Given the description of an element on the screen output the (x, y) to click on. 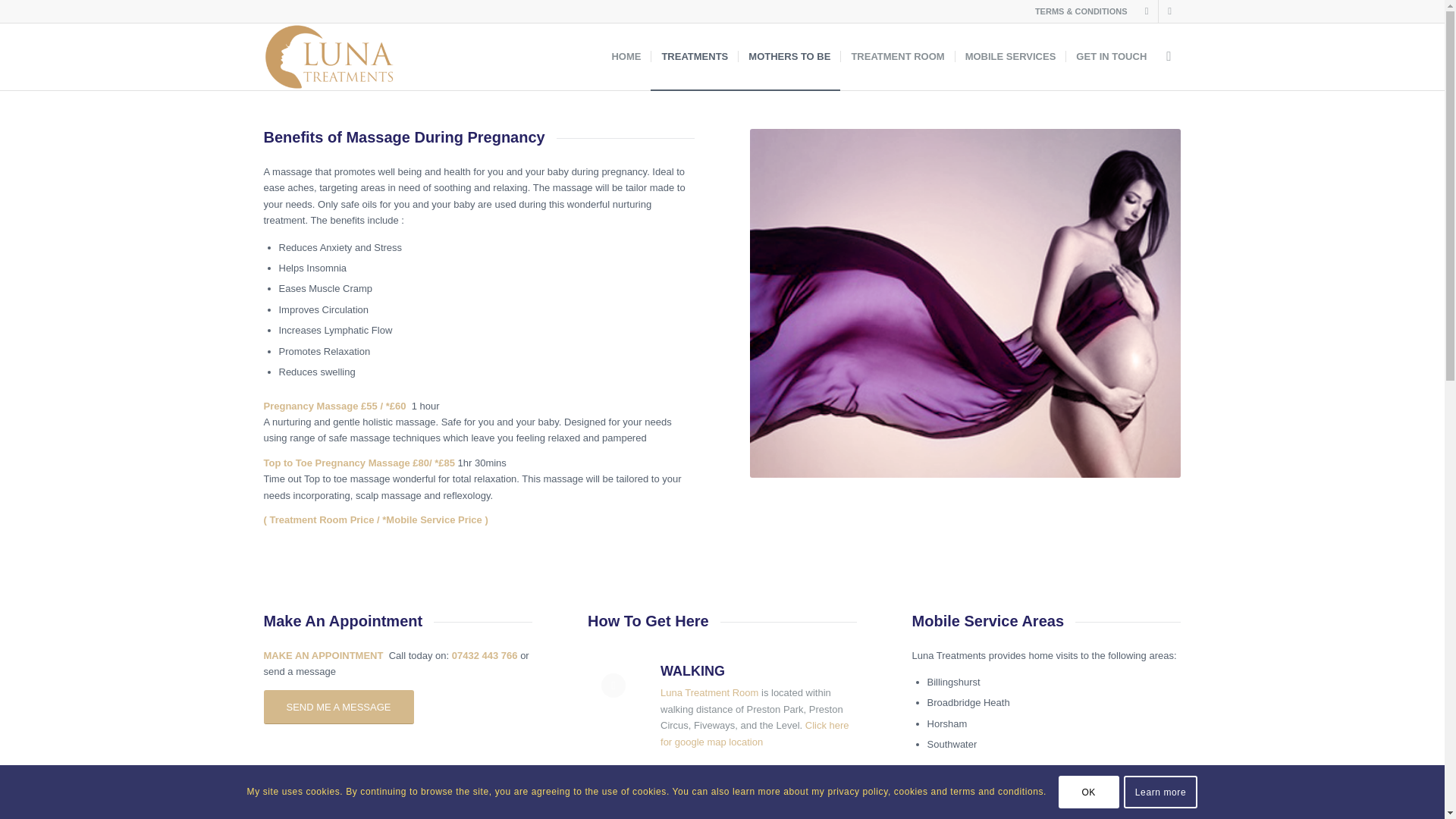
MOBILE SERVICES (1010, 56)
MOTHERS TO BE (789, 56)
Facebook (1146, 11)
Instagram (1169, 11)
TREATMENT ROOM (896, 56)
GET IN TOUCH (1110, 56)
TREATMENTS (694, 56)
Mobile Service Price (433, 519)
Treatment Room Price (321, 519)
